Given the description of an element on the screen output the (x, y) to click on. 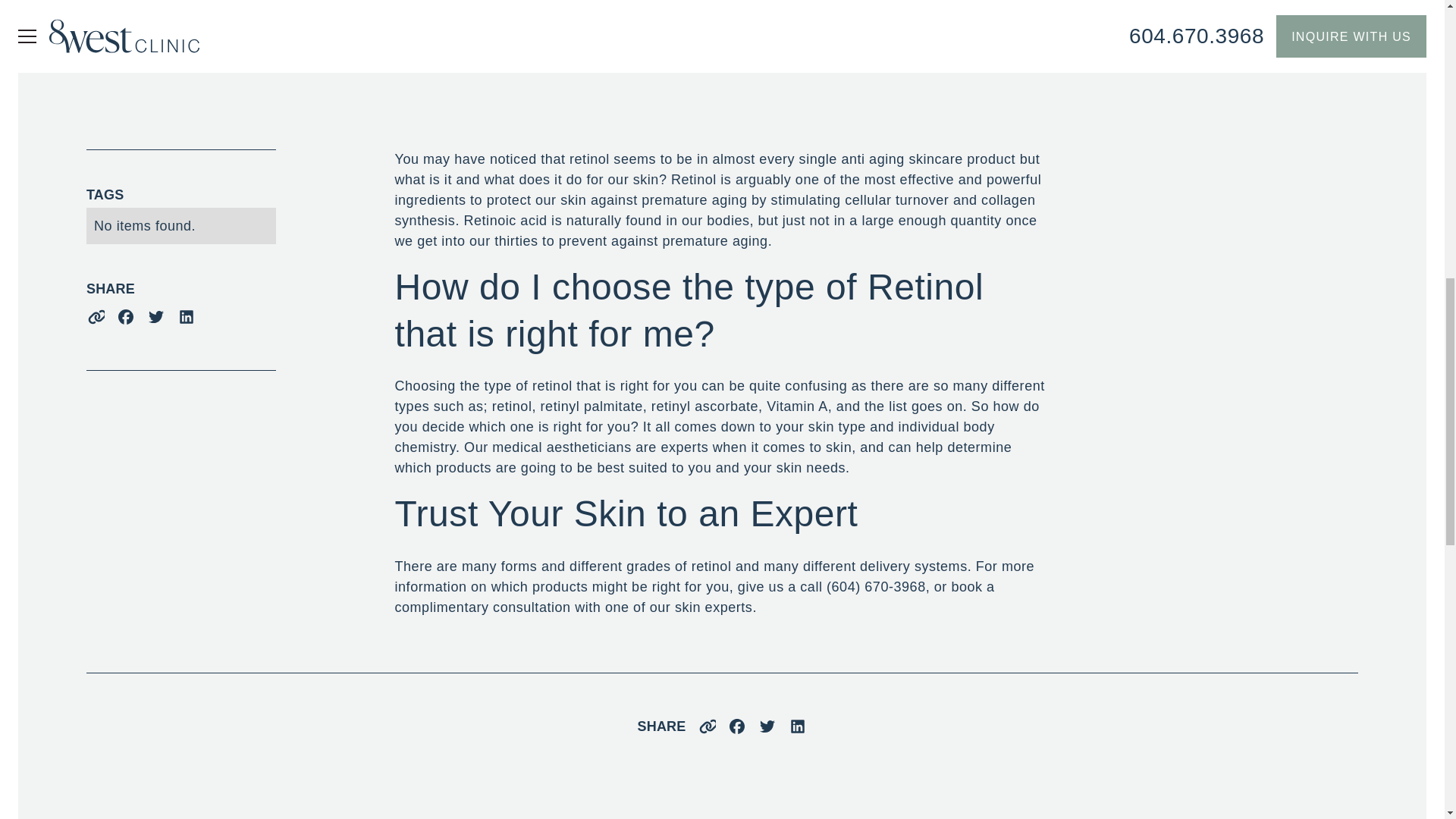
YouTube embed (722, 36)
book a complimentary consultation (694, 597)
